Given the description of an element on the screen output the (x, y) to click on. 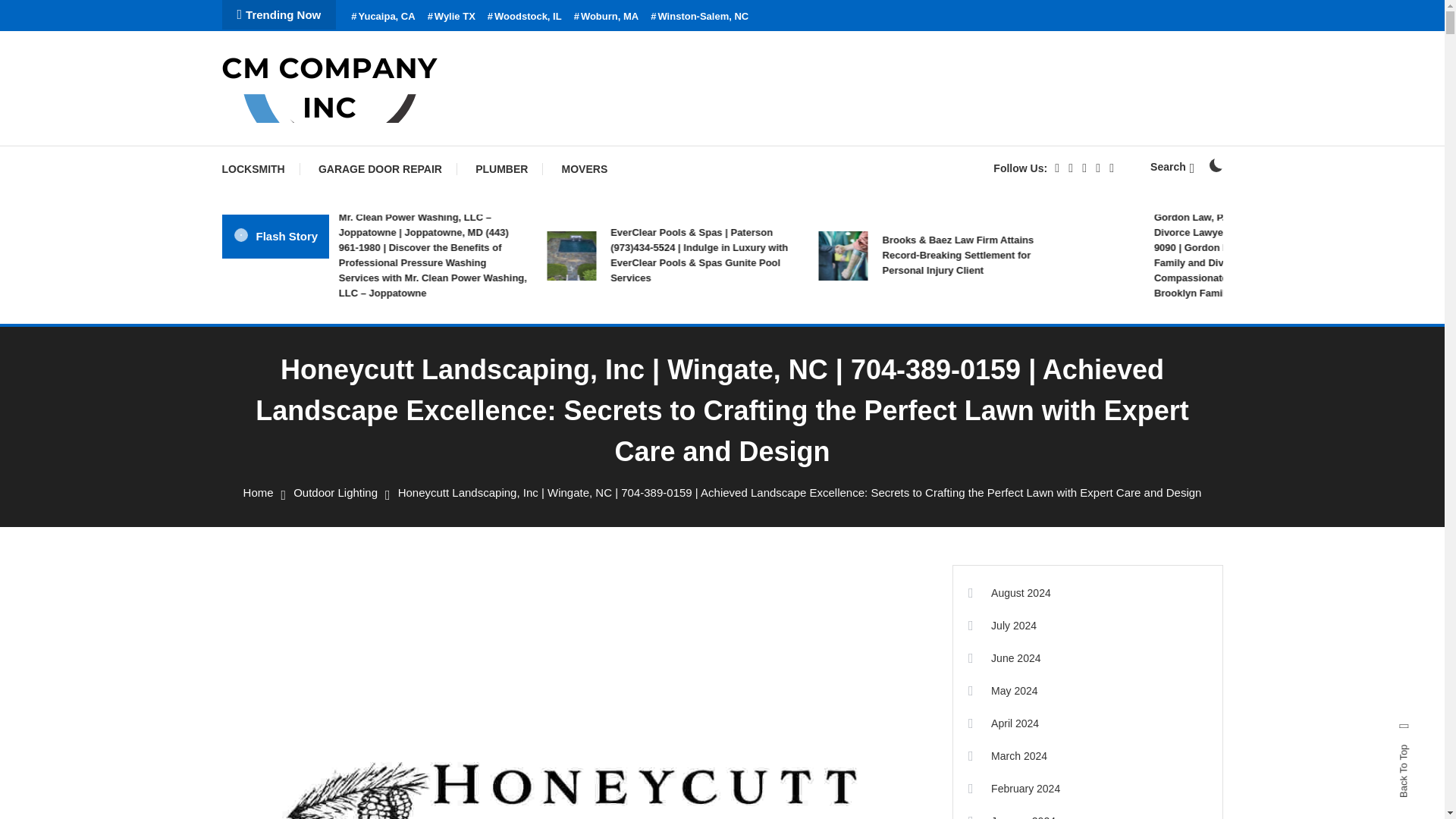
LOCKSMITH (260, 168)
PLUMBER (501, 168)
Home (258, 492)
on (1215, 164)
Woburn, MA (606, 16)
Search (1171, 166)
GARAGE DOOR REPAIR (379, 168)
MOVERS (585, 168)
Wylie TX (452, 16)
Yucaipa, CA (382, 16)
